Given the description of an element on the screen output the (x, y) to click on. 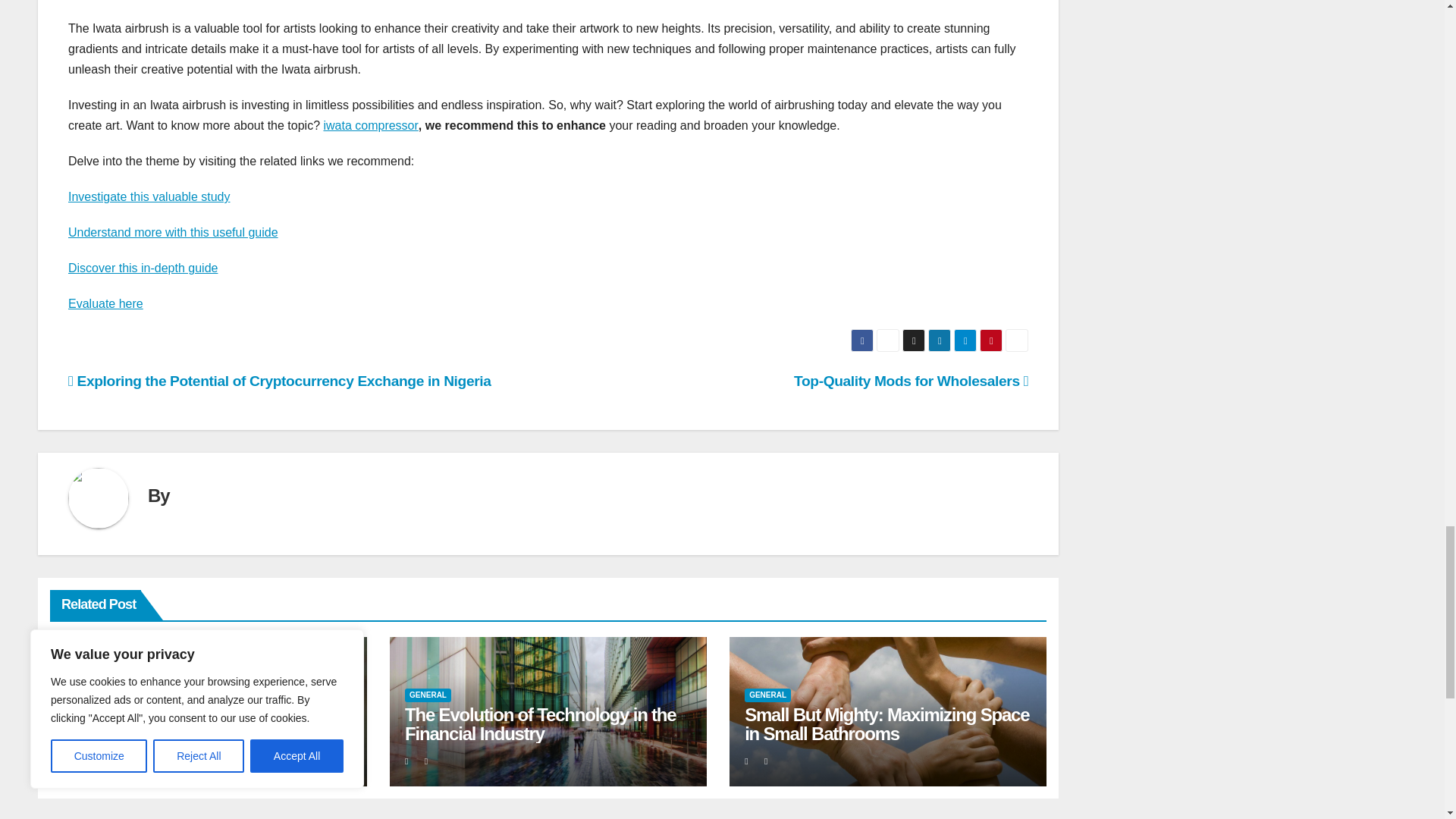
Evaluate here (105, 303)
Understand more with this useful guide (173, 232)
Investigate this valuable study (149, 196)
Permalink to: The Timeless Appeal of Limoges Porcelain (192, 723)
iwata compressor (370, 124)
Discover this in-depth guide (142, 267)
